Given the description of an element on the screen output the (x, y) to click on. 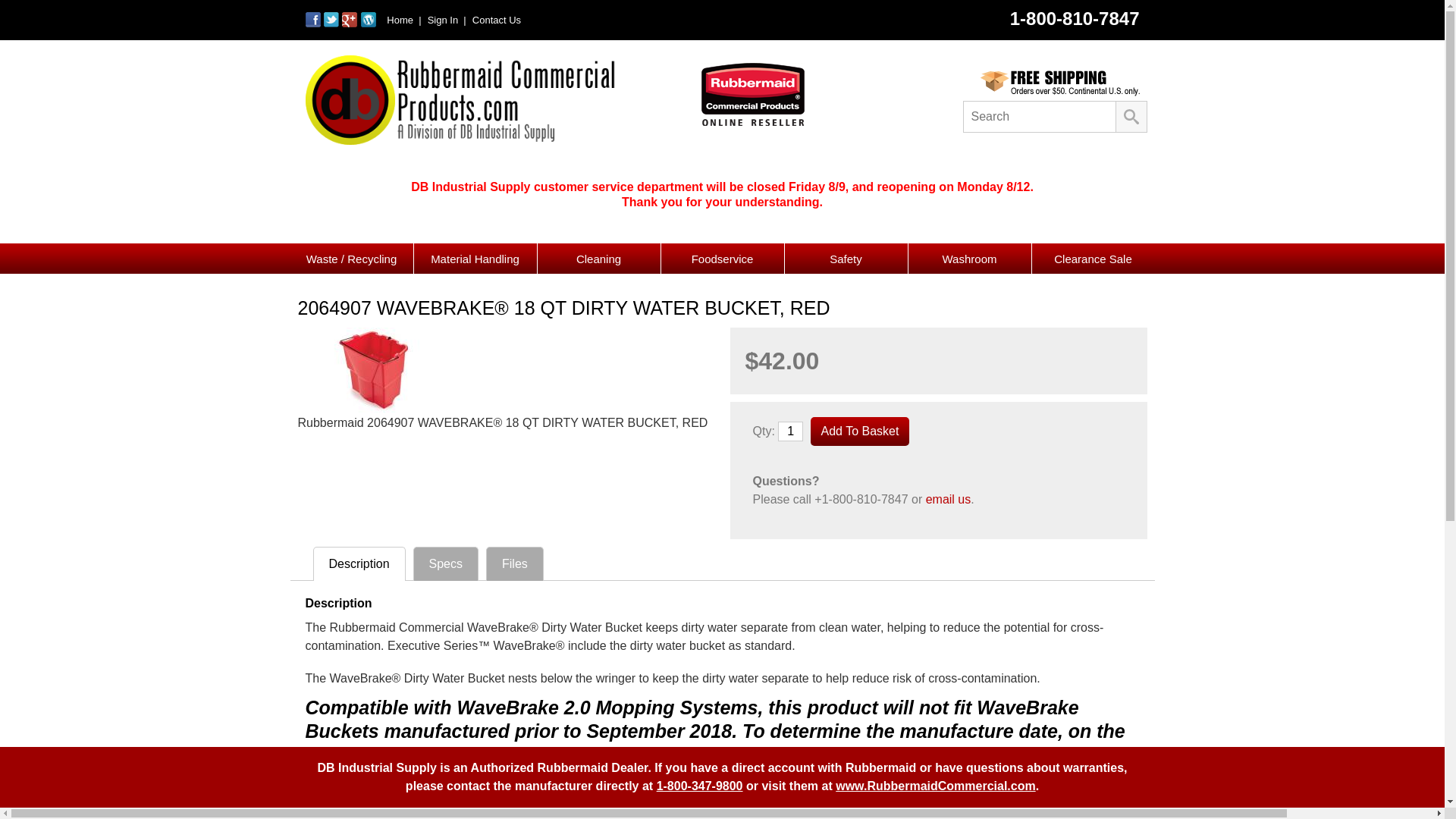
Home (403, 19)
Contact Us (494, 19)
1 (790, 431)
Blog (368, 22)
Login (445, 19)
Add To Basket (859, 430)
Facebook (313, 22)
 Contact Us (494, 19)
Twitter (332, 22)
Material Handling (474, 258)
